Given the description of an element on the screen output the (x, y) to click on. 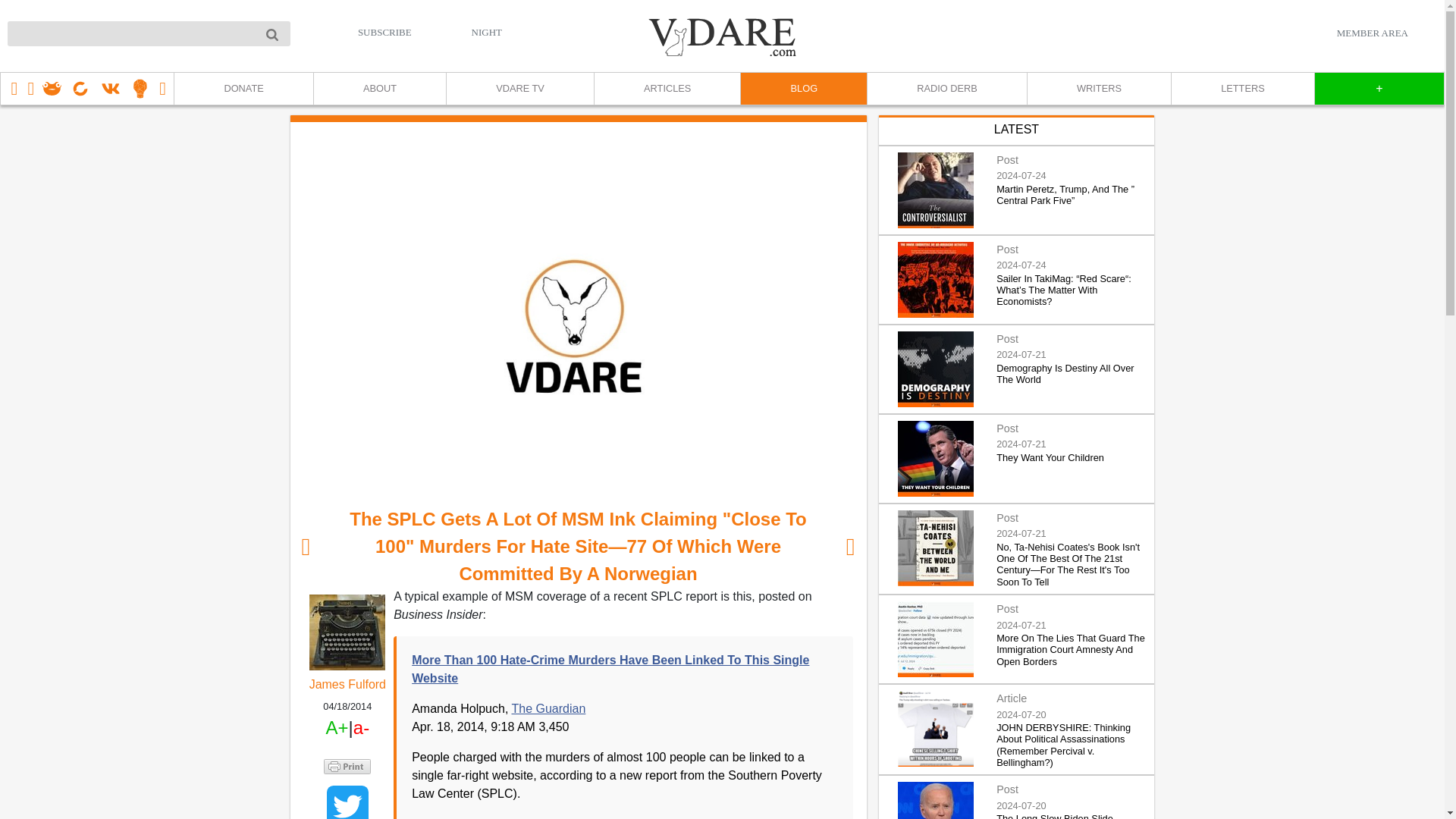
LETTERS (1242, 88)
BLOG (802, 88)
Share to Twitter (347, 802)
RADIO DERB (946, 88)
Printer Friendly and PDF (347, 765)
MEMBER AREA (1371, 32)
ARTICLES (666, 88)
WRITERS (1098, 88)
SUBSCRIBE (385, 31)
ABOUT (379, 88)
DONATE (243, 88)
VDARE TV (519, 88)
